Given the description of an element on the screen output the (x, y) to click on. 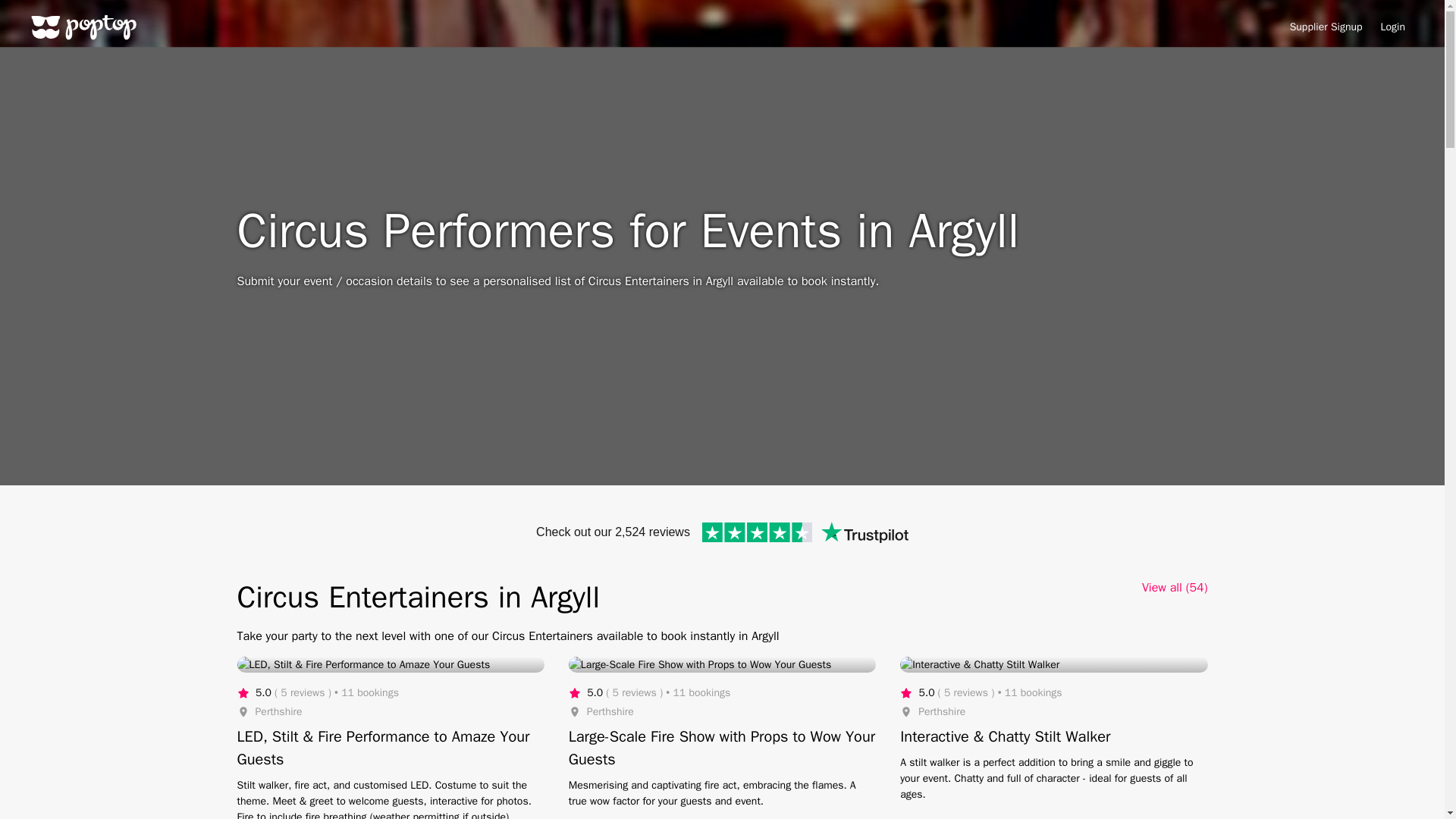
Login (1392, 26)
Supplier Signup (1326, 26)
Customer reviews powered by Trustpilot (721, 531)
